Given the description of an element on the screen output the (x, y) to click on. 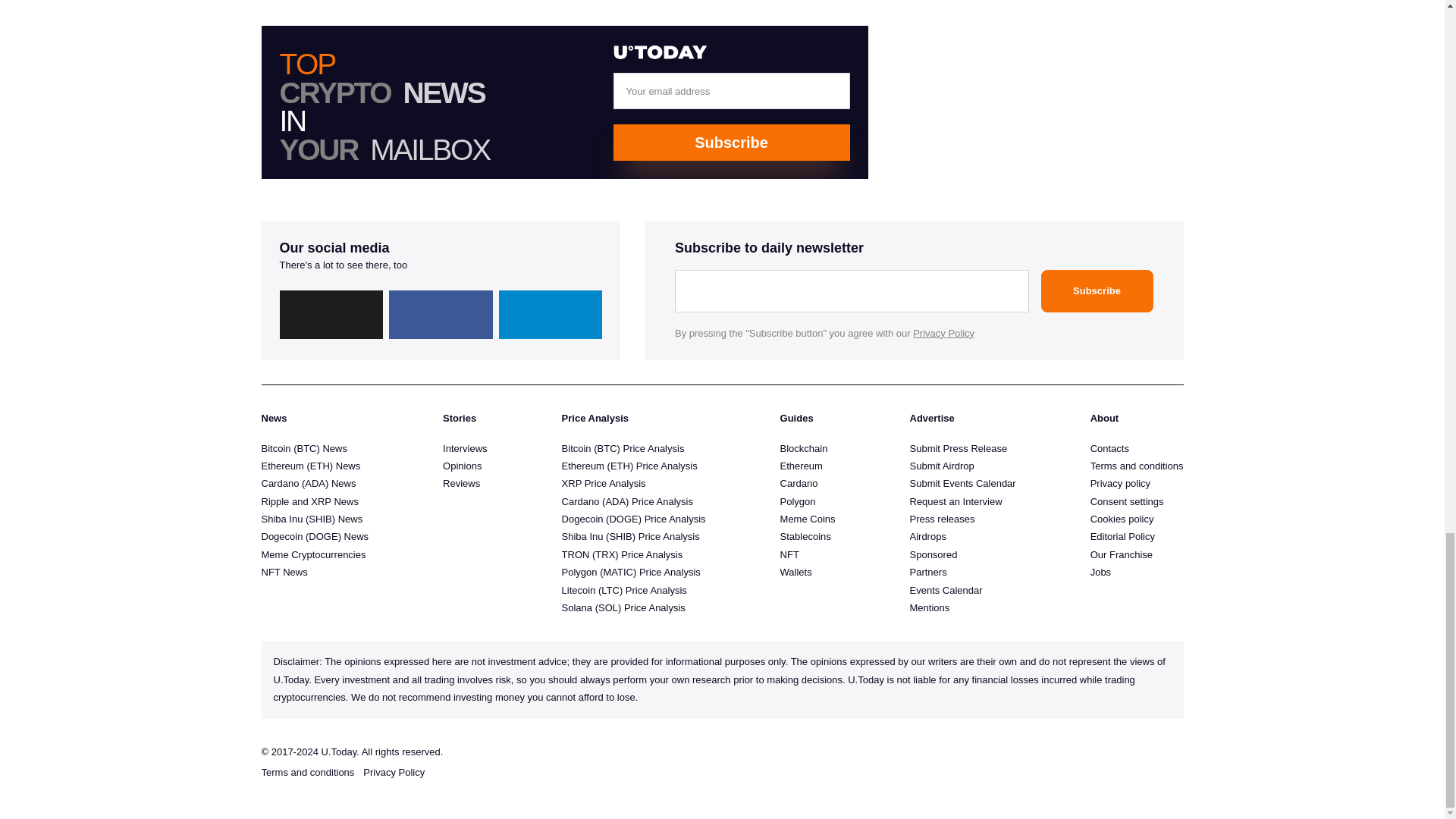
Go to Telegram (550, 314)
Go to X (330, 314)
Go to Facebook (440, 314)
